Given the description of an element on the screen output the (x, y) to click on. 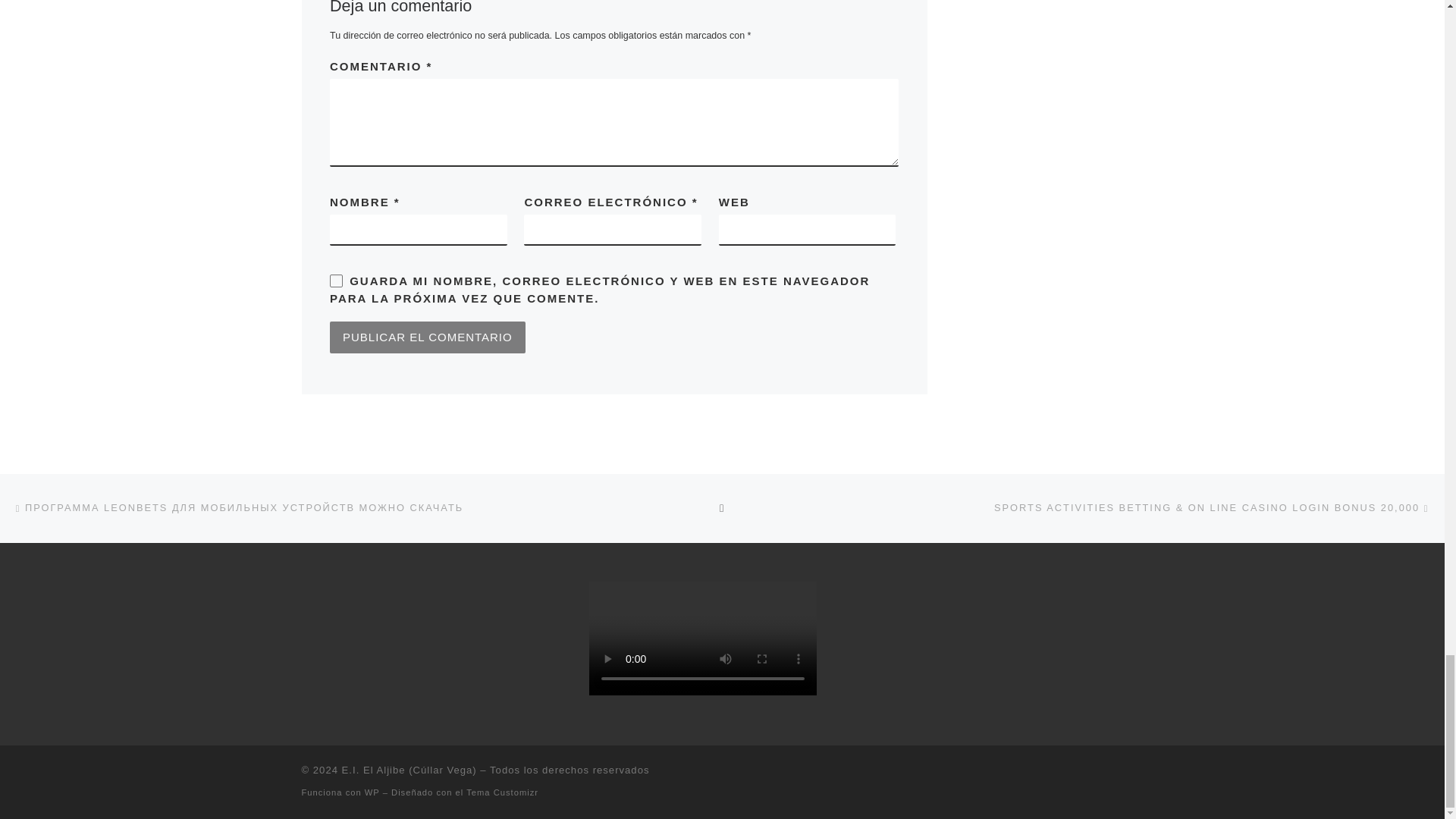
yes (336, 280)
Tema Customizr (501, 791)
Publicar el comentario (427, 336)
Funciona con WordPress (372, 791)
